Given the description of an element on the screen output the (x, y) to click on. 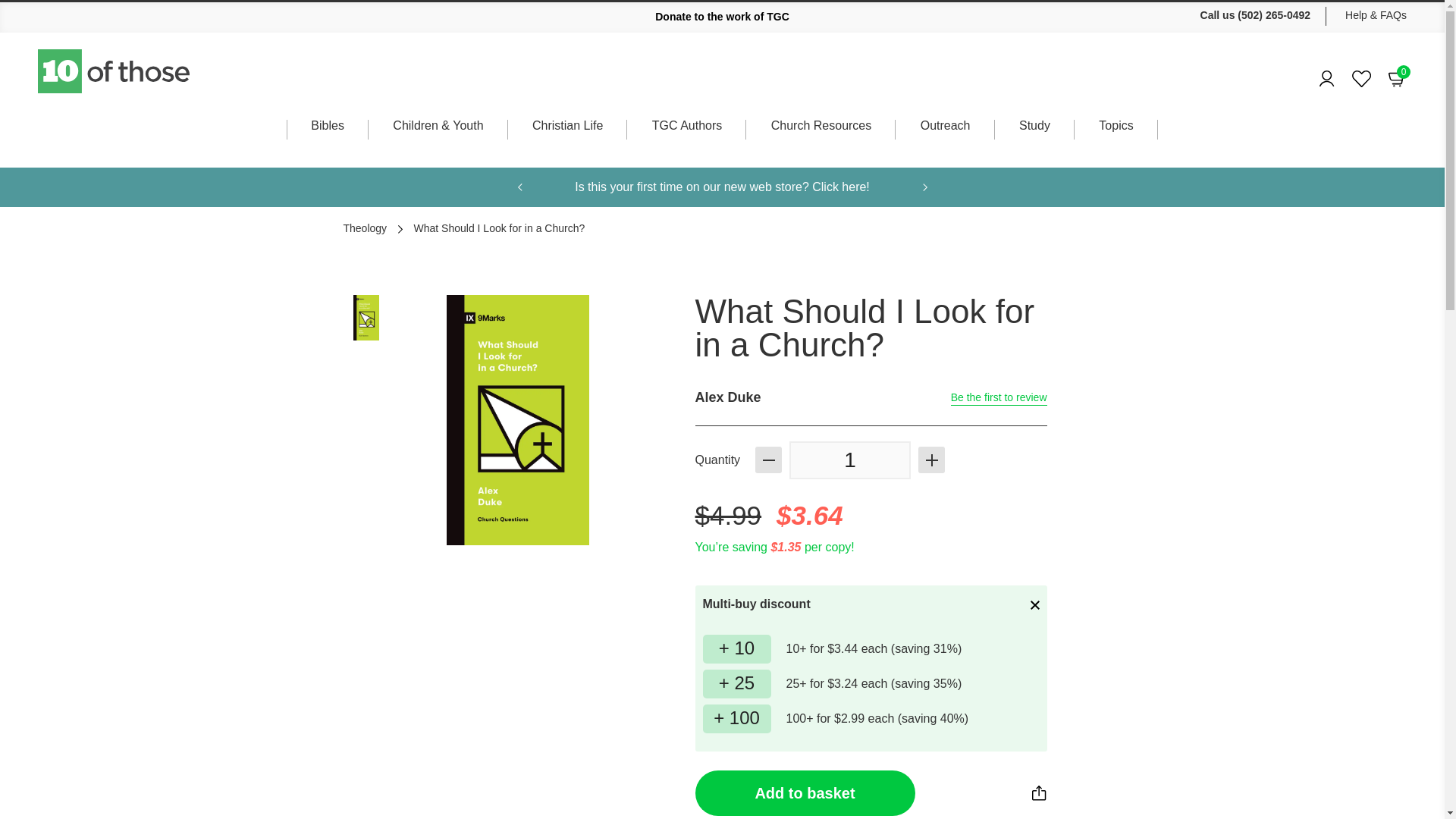
1 (850, 460)
Favourites (1361, 78)
Donate to the work of TGC (722, 16)
Account (1397, 77)
10 of those (1327, 78)
